Given the description of an element on the screen output the (x, y) to click on. 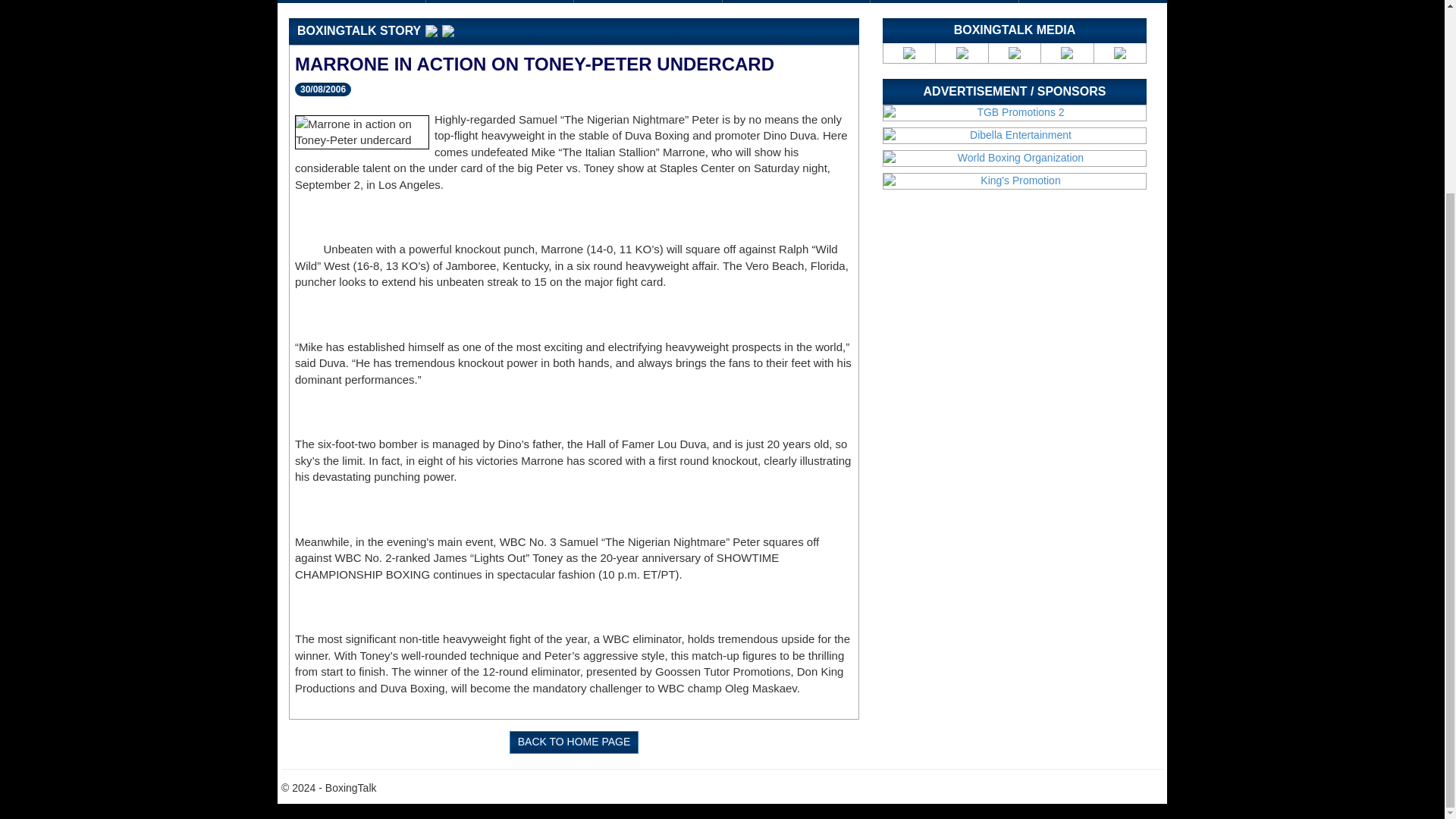
World Boxing Organization (1014, 158)
Marrone in action on Toney-Peter undercard (362, 132)
King's Promotion (1014, 181)
Dibella Entertainment (1014, 135)
TGB Promotions 2 (1014, 112)
